Given the description of an element on the screen output the (x, y) to click on. 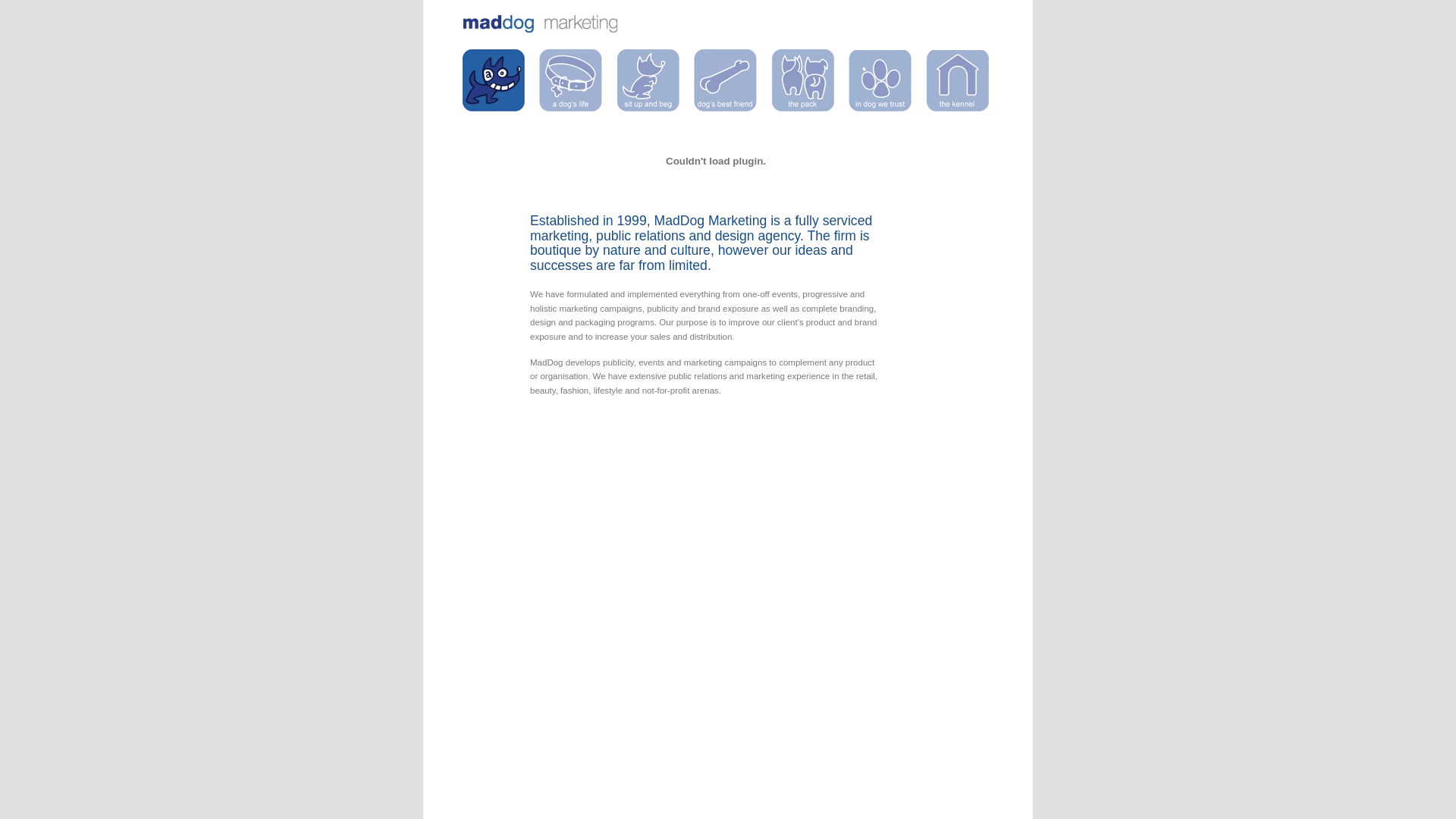
MadDog Flash animation Element type: hover (715, 195)
  Element type: text (493, 80)
MadDog Flash animation Element type: hover (715, 160)
